Given the description of an element on the screen output the (x, y) to click on. 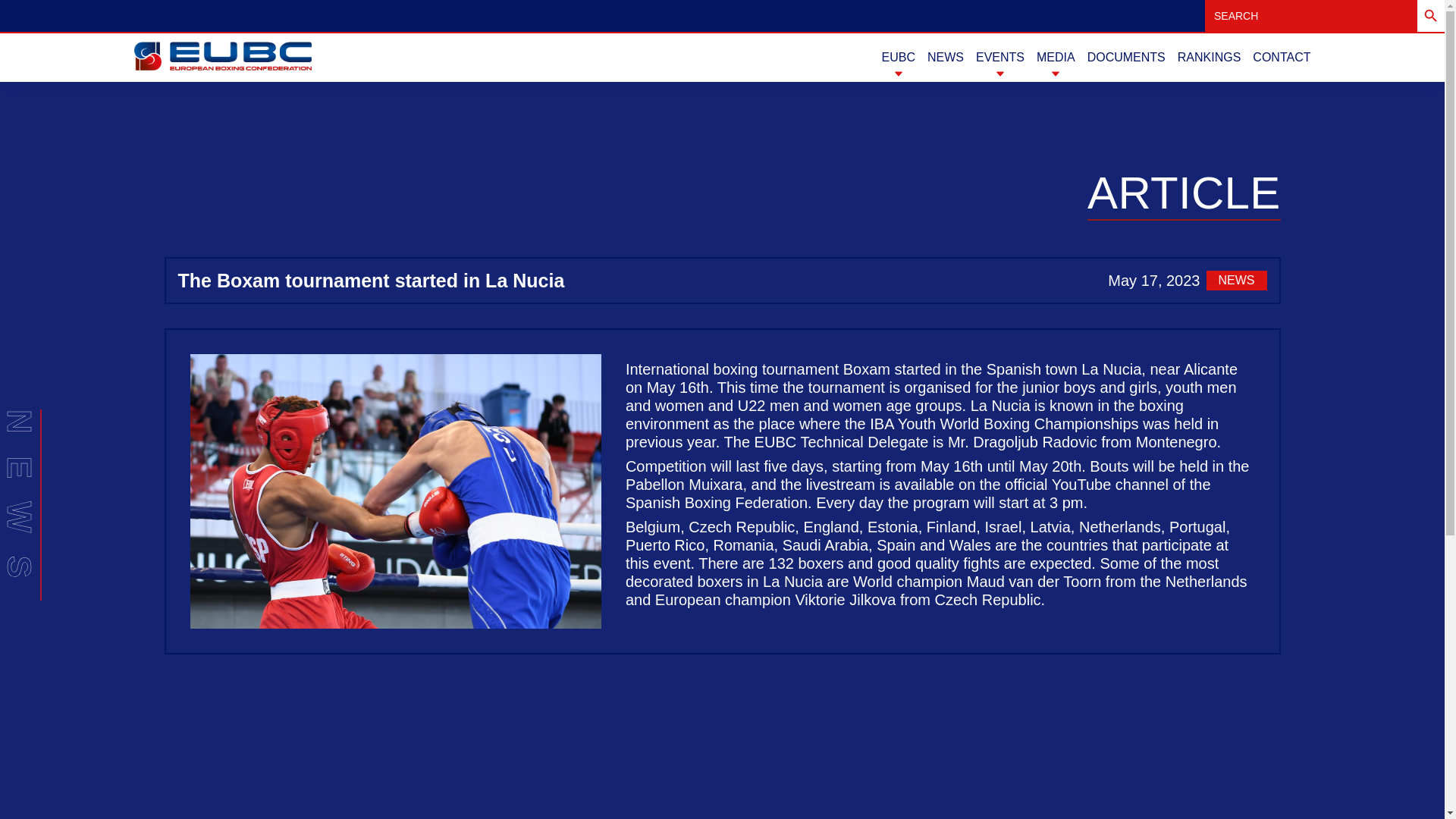
EVENTS (1000, 57)
CONTACT (1281, 57)
RANKINGS (1209, 57)
DOCUMENTS (1126, 57)
